Given the description of an element on the screen output the (x, y) to click on. 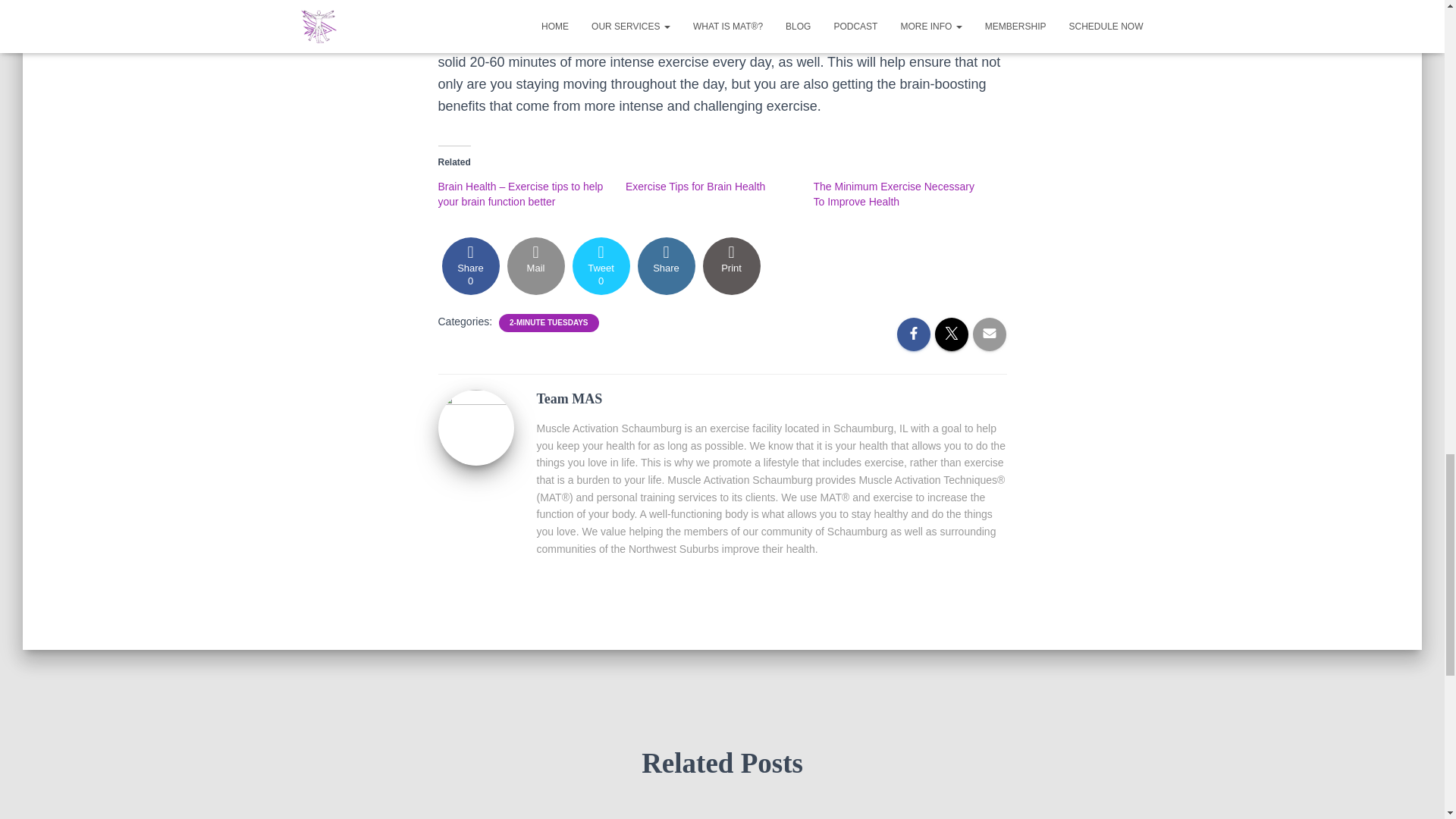
Print (730, 265)
2-MINUTE TUESDAYS (600, 265)
Share (548, 322)
Mail (470, 265)
The Minimum Exercise Necessary To Improve Health (665, 265)
Exercise Tips for Brain Health (535, 265)
